Given the description of an element on the screen output the (x, y) to click on. 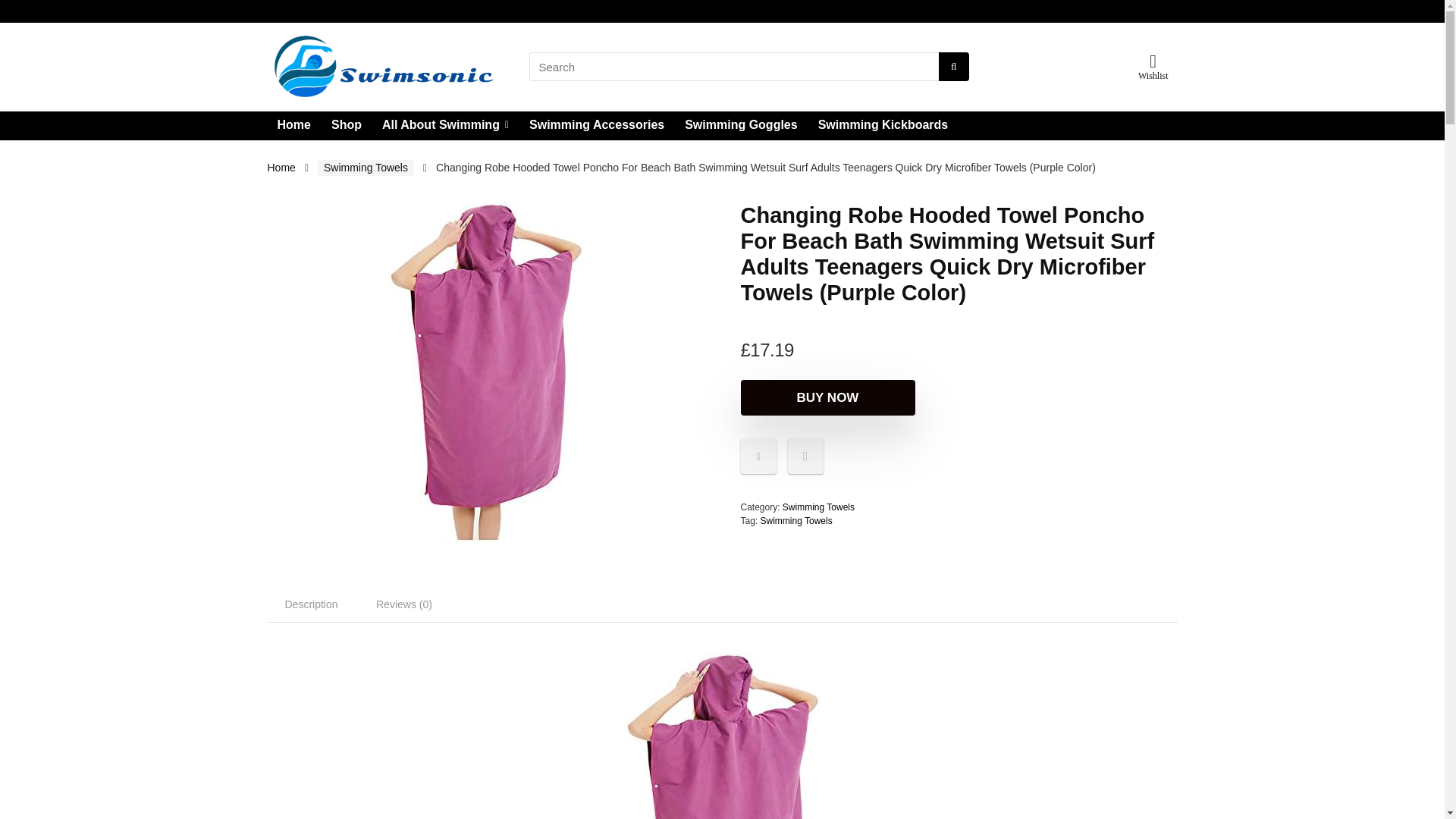
Swimming Accessories (596, 125)
Shop (346, 125)
Home (280, 167)
Swimming Towels (796, 520)
Swimming Kickboards (883, 125)
Description (310, 604)
Swimming Towels (818, 507)
Swimming Towels (365, 167)
BUY NOW (826, 397)
All About Swimming (445, 125)
